Given the description of an element on the screen output the (x, y) to click on. 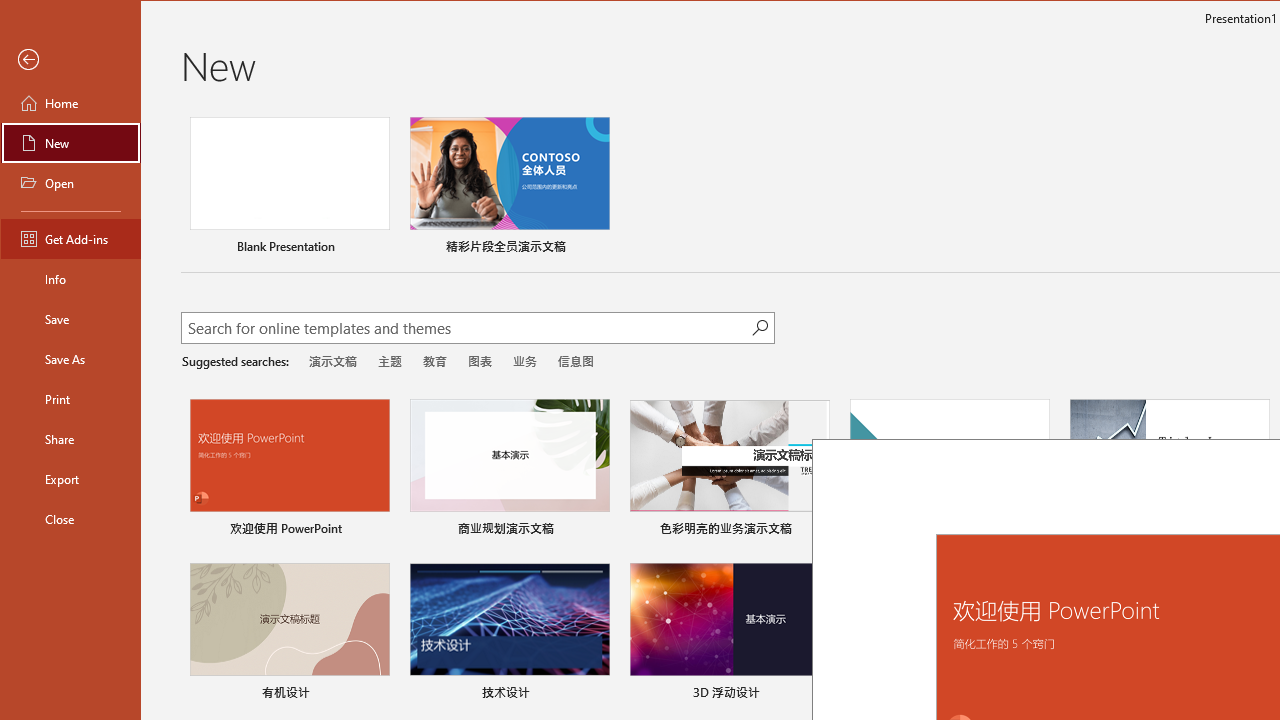
Blank Presentation (289, 187)
Print (70, 398)
Pin to list (1256, 695)
